Given the description of an element on the screen output the (x, y) to click on. 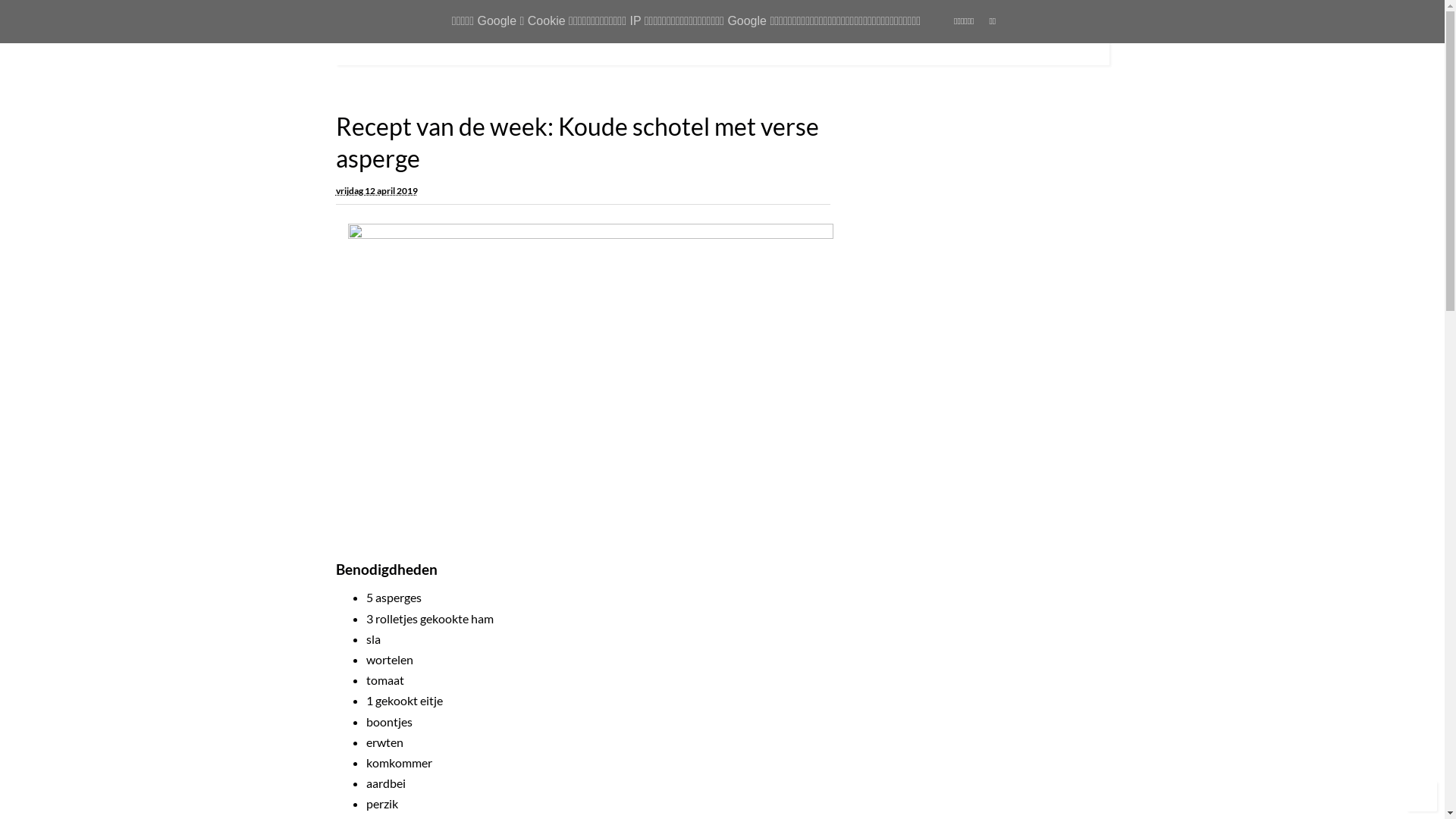
Inschrijven Element type: text (906, 272)
vrijdag 12 april 2019 Element type: text (376, 188)
Lees hier onze Privacy & Cookies regels Element type: text (957, 307)
